Given the description of an element on the screen output the (x, y) to click on. 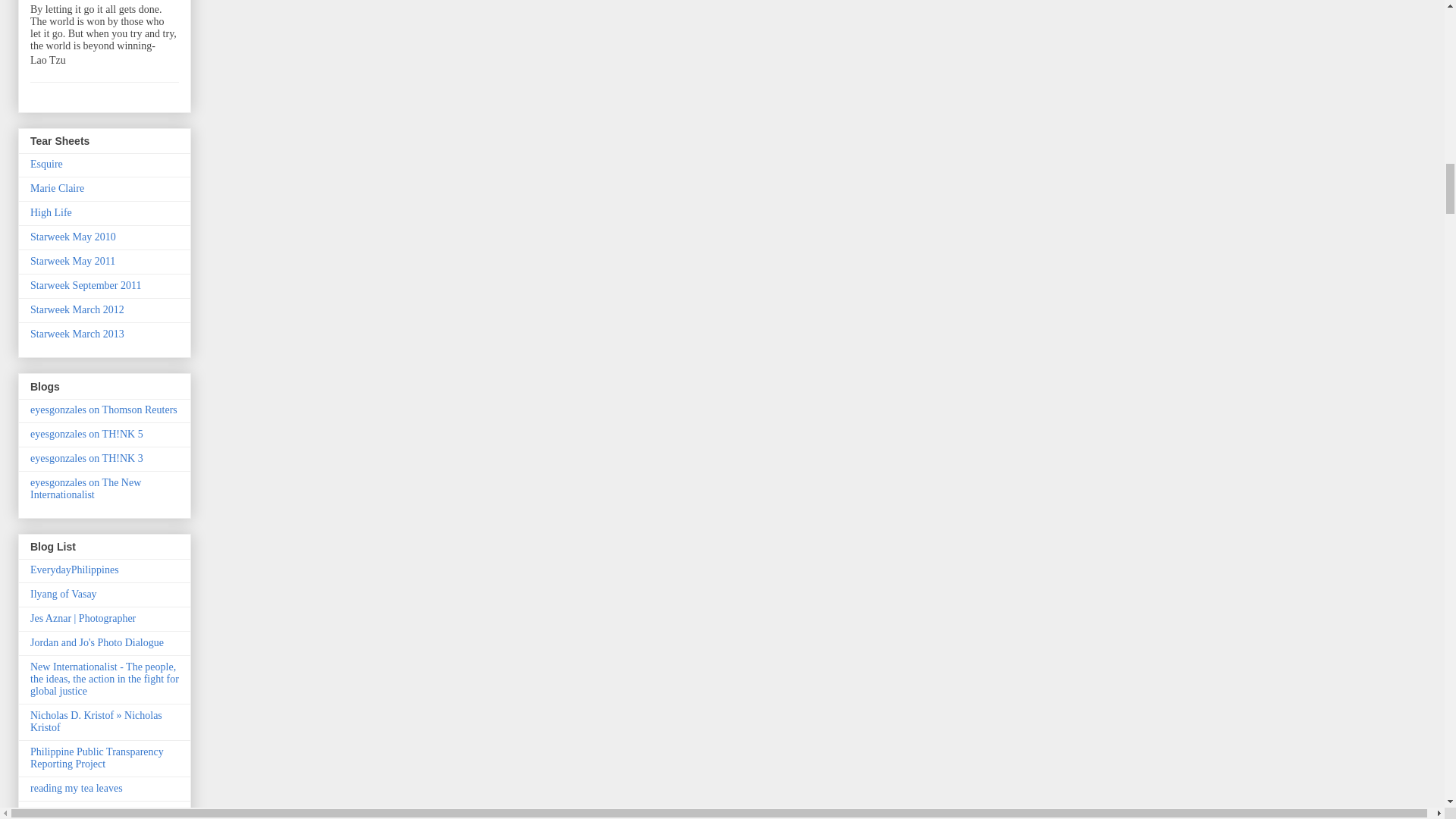
Jordan and Jo's Photo Dialogue (96, 642)
High Life (50, 212)
EverydayPhilippines (74, 569)
Starweek September 2011 (85, 285)
reading my tea leaves (76, 787)
eyesgonzales on TH!NK 5 (86, 433)
Starweek May 2011 (72, 260)
eyesgonzales on Thomson Reuters (103, 409)
eyesgonzales on The New Internationalist (85, 488)
Starweek March 2013 (76, 333)
Esquire (46, 163)
eyesgonzales on TH!NK 3 (86, 458)
Ilyang of Vasay (63, 593)
Marie Claire (57, 188)
